Given the description of an element on the screen output the (x, y) to click on. 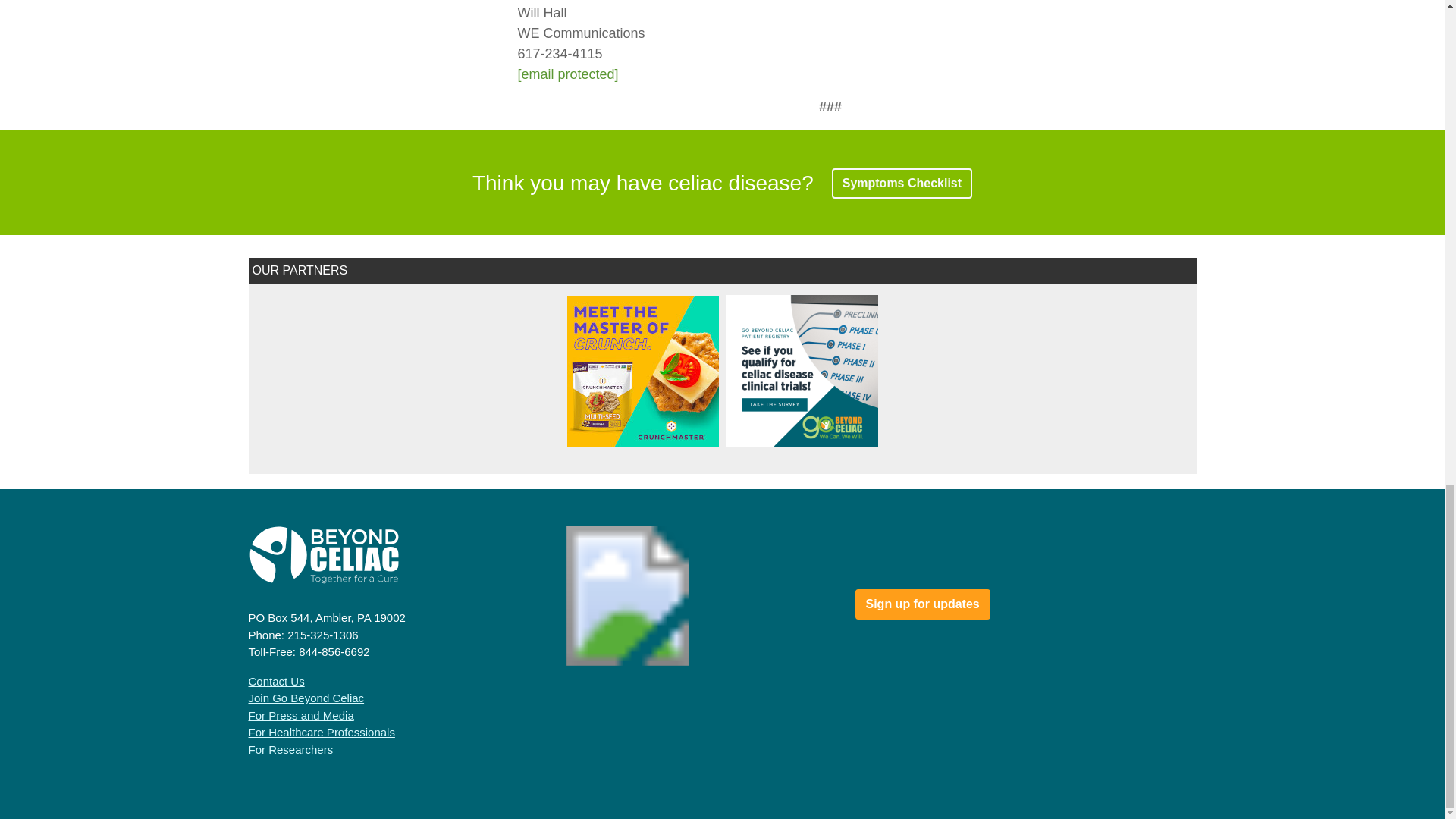
Beyond Celiac at the NHC (719, 561)
Visit GuideStar (533, 560)
Visit Charity Navigator (631, 558)
